Given the description of an element on the screen output the (x, y) to click on. 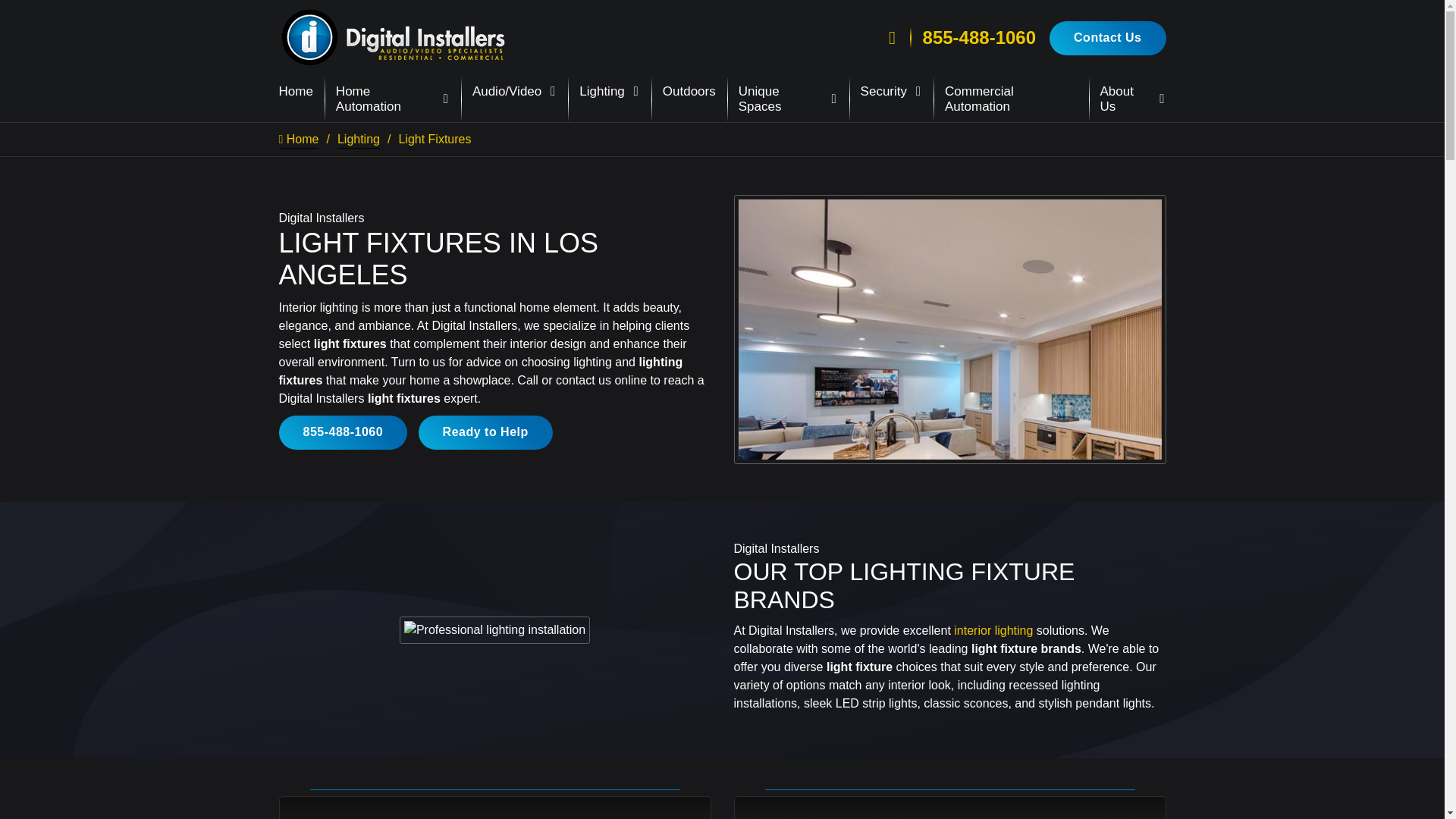
Outdoors (689, 91)
Lighting (609, 91)
Contact Us (1107, 38)
Commercial Automation (1010, 99)
855-488-1060 (979, 37)
About Us (1133, 99)
Home Automation (392, 99)
Security (890, 91)
Unique Spaces (788, 99)
Home (296, 91)
